Given the description of an element on the screen output the (x, y) to click on. 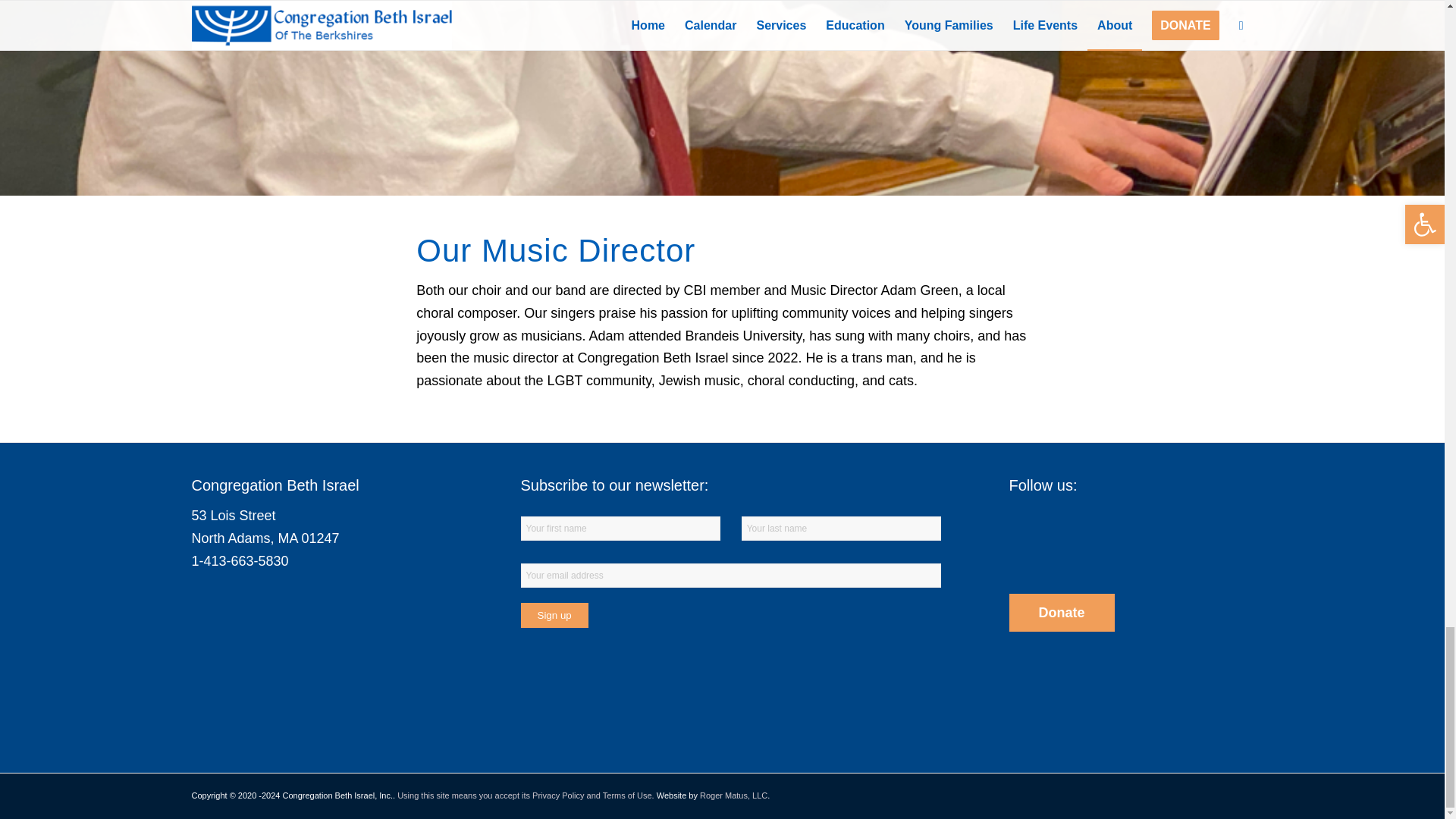
Sign up (553, 615)
